Given the description of an element on the screen output the (x, y) to click on. 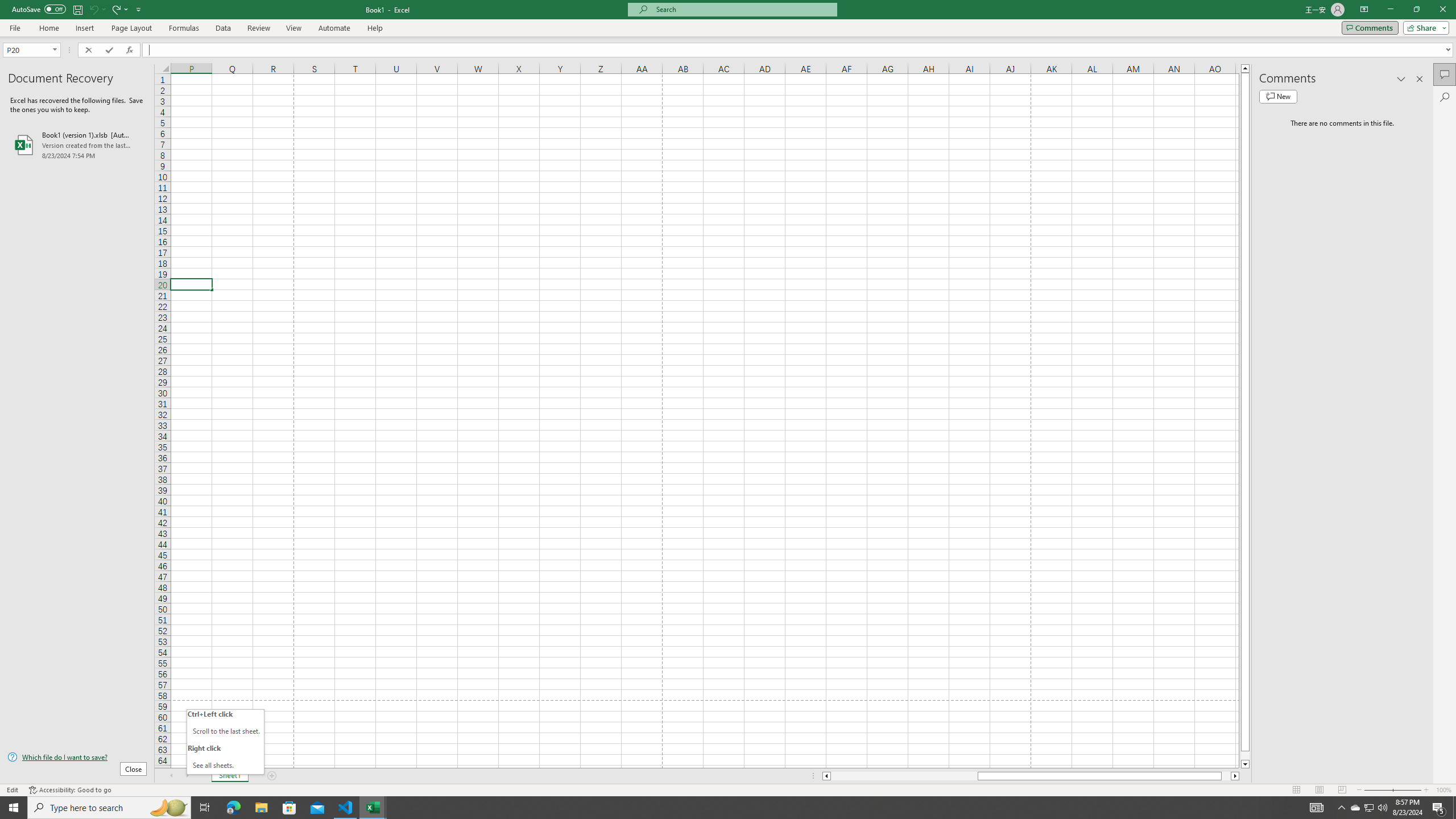
Minimize (1390, 9)
Task Pane Options (1400, 78)
Search (1444, 96)
Sheet1 (229, 775)
Class: MsoCommandBar (728, 18)
Name Box (30, 49)
Review (258, 28)
Ribbon Display Options (1364, 9)
Page Layout (131, 28)
Share (1423, 27)
Scroll Left (171, 775)
Scroll Right (187, 775)
Book1 (version 1).xlsb  [AutoRecovered] (77, 144)
Which file do I want to save? (77, 757)
